Given the description of an element on the screen output the (x, y) to click on. 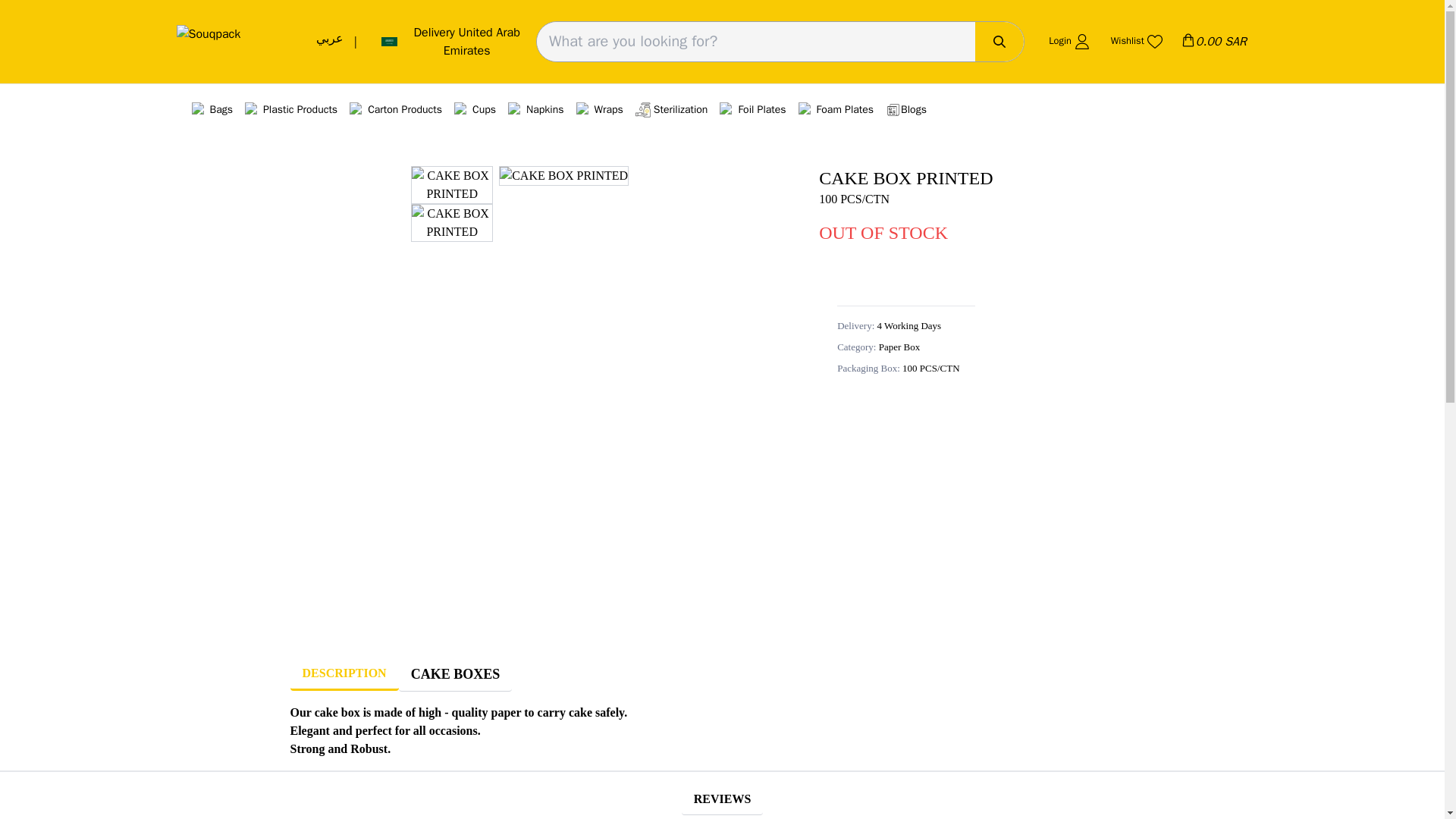
Login (1067, 41)
SAR (1187, 39)
Delivery United Arab Emirates (450, 41)
0.00 SAR (1213, 41)
user (1081, 41)
Search (999, 41)
Wishlist (1134, 41)
favorite (1154, 41)
